Given the description of an element on the screen output the (x, y) to click on. 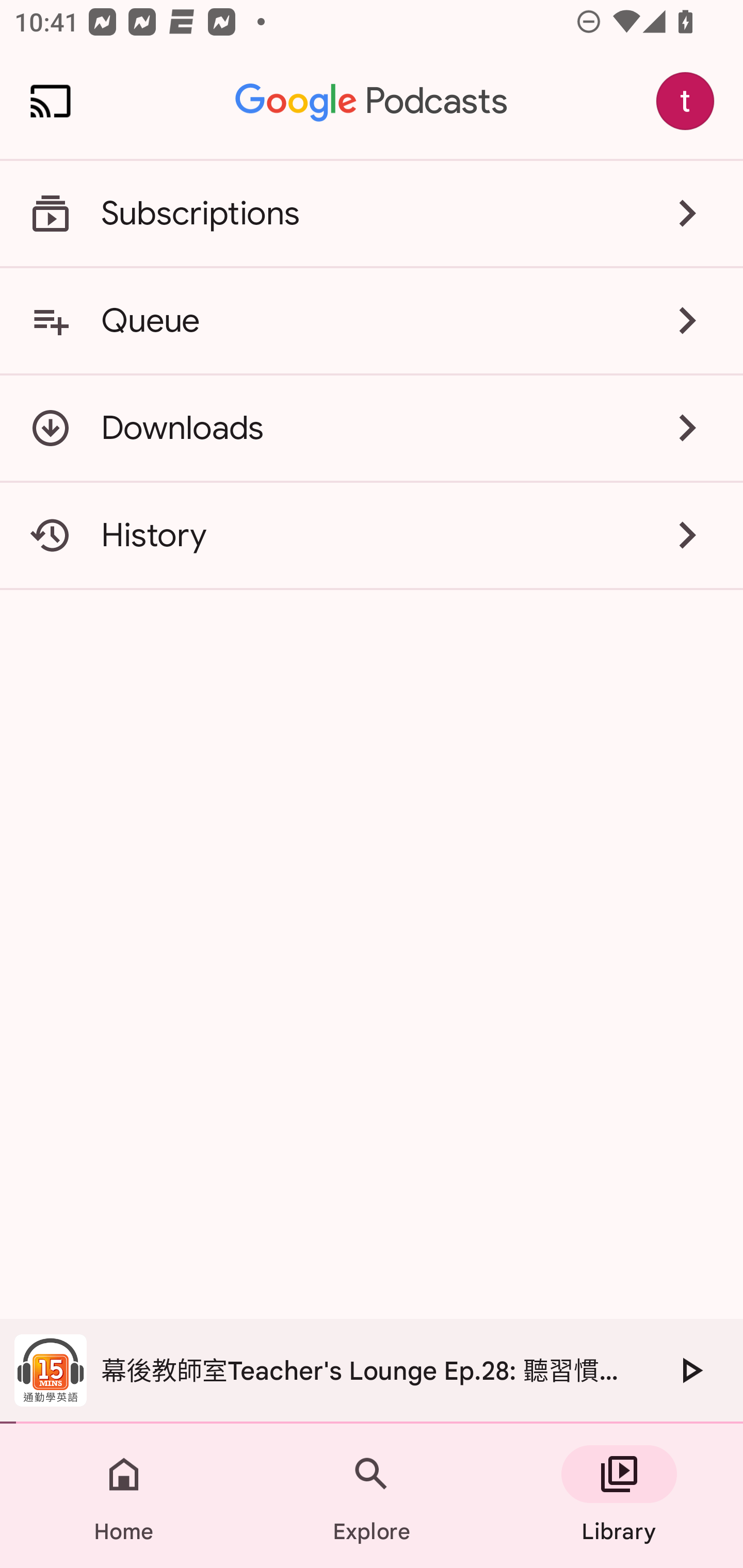
Cast. Disconnected (50, 101)
Subscriptions (371, 213)
Queue (371, 320)
Downloads (371, 427)
History (371, 535)
Play (690, 1370)
Home (123, 1495)
Explore (371, 1495)
